Given the description of an element on the screen output the (x, y) to click on. 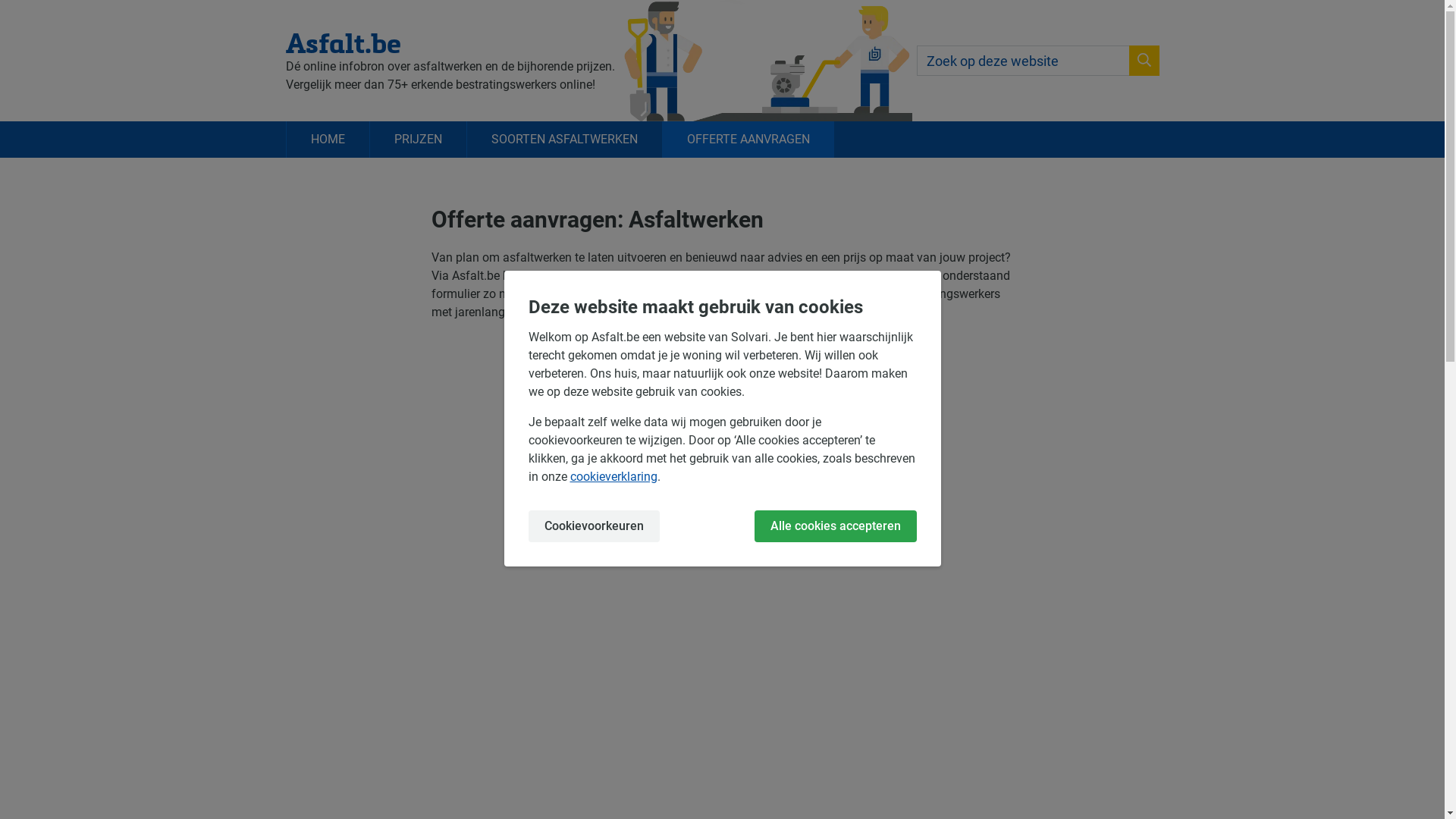
OFFERTE AANVRAGEN Element type: text (747, 139)
Cookievoorkeuren Element type: text (592, 526)
cookieverklaring Element type: text (613, 476)
SOORTEN ASFALTWERKEN Element type: text (563, 139)
Alle cookies accepteren Element type: text (834, 526)
PRIJZEN Element type: text (416, 139)
Asfalt.be Element type: text (449, 42)
HOME Element type: text (326, 139)
